Given the description of an element on the screen output the (x, y) to click on. 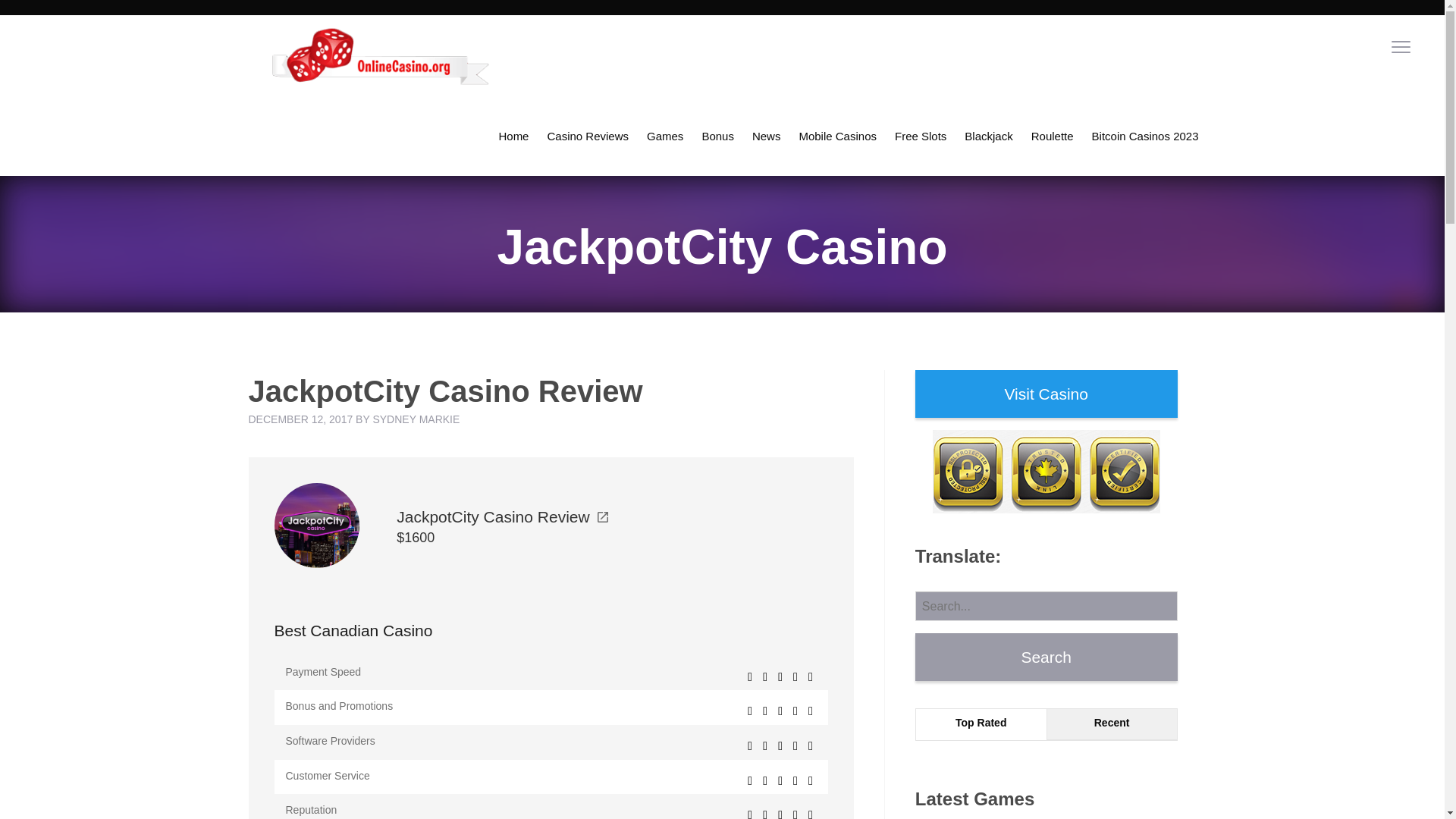
SYDNEY MARKIE (416, 419)
Casino Reviews (587, 136)
mobile casinos (837, 136)
Bitcoin Casinos 2023 (1145, 136)
JackpotCity Casino Review (317, 524)
Search (1046, 656)
Online Casino Reviews (587, 136)
JackpotCity Casino Review (501, 516)
JackpotCity Casino Review (501, 516)
Posts by Sydney Markie (416, 419)
Search (1046, 656)
Search for: (1046, 605)
Mobile Casinos (837, 136)
